Given the description of an element on the screen output the (x, y) to click on. 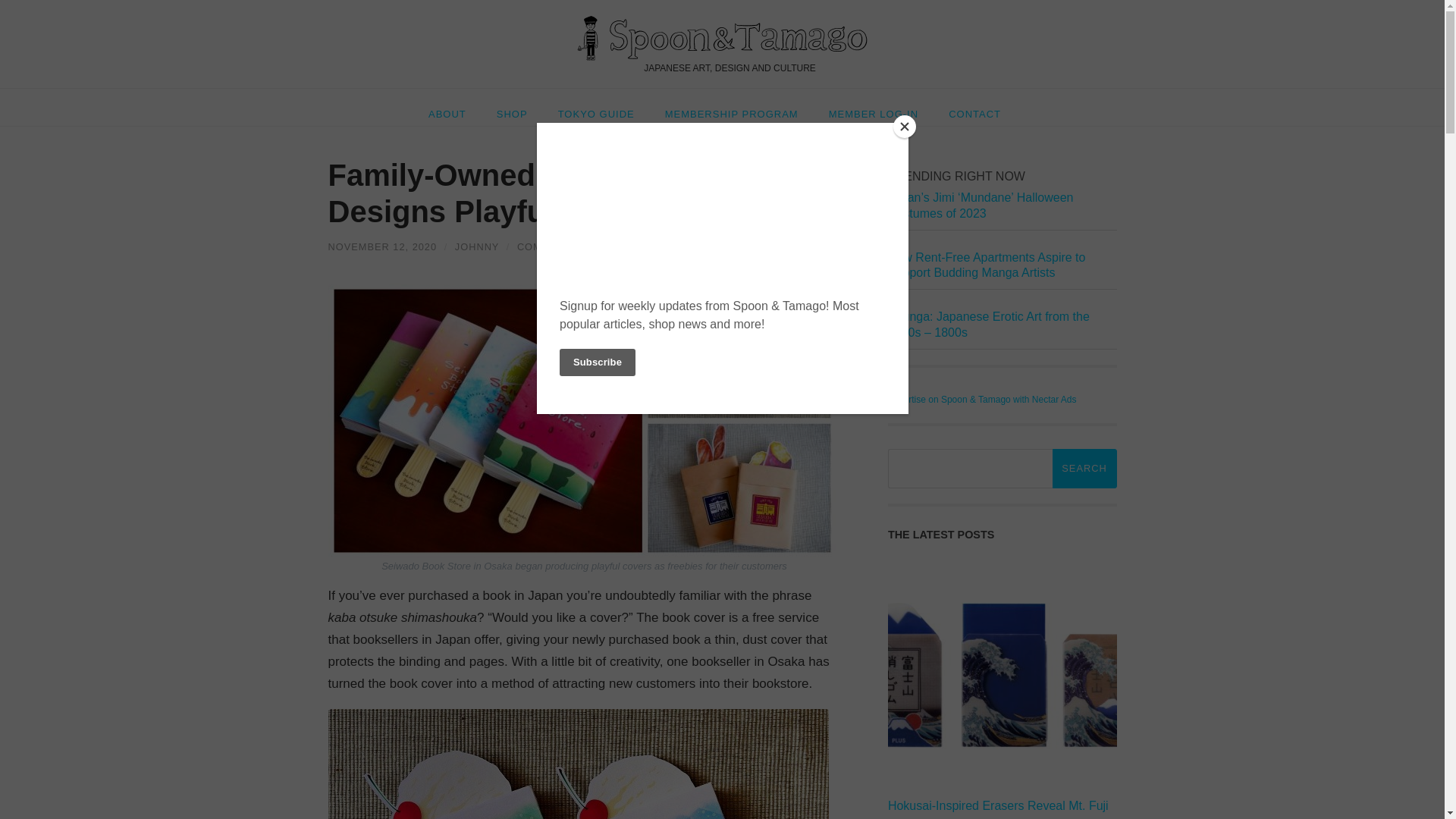
SHOP (512, 107)
Search (1084, 468)
CONTACT (974, 107)
MEMBER LOG-IN (873, 107)
ABOUT (454, 107)
MEMBERSHIP PROGRAM (731, 107)
JAPANESE ART, DESIGN AND CULTURE (721, 43)
Posts by Johnny (476, 246)
Family-Owned Osaka Bookseller Designs Playful Book Covers (562, 193)
TOKYO GUIDE (596, 107)
Family-Owned Osaka Bookseller Designs Playful Book Covers (562, 193)
Family-Owned Osaka Bookseller Designs Playful Book Covers (381, 246)
JOHNNY (476, 246)
NOVEMBER 12, 2020 (381, 246)
